Given the description of an element on the screen output the (x, y) to click on. 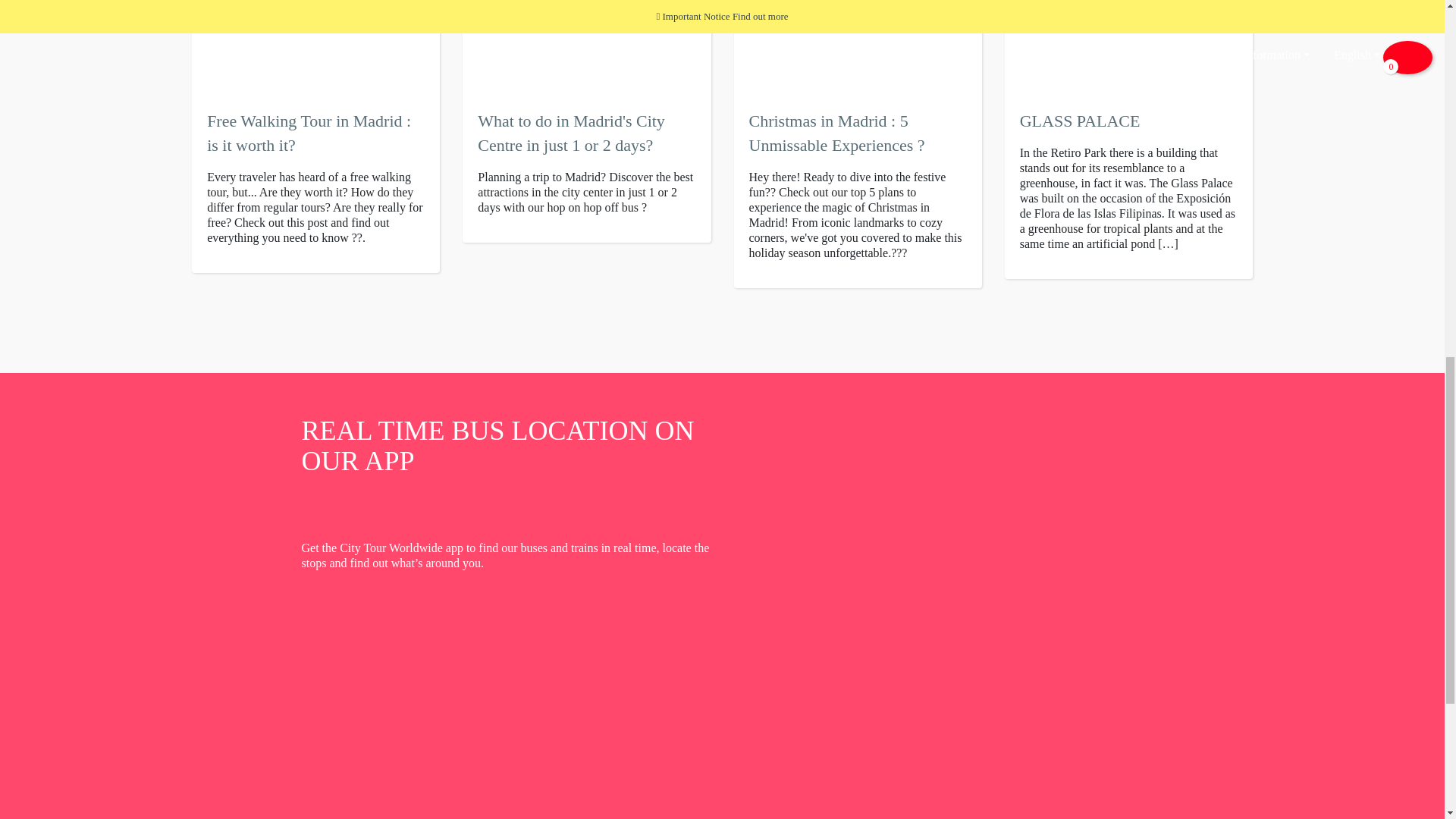
GLASS PALACE (1128, 120)
Free Walking Tour in Madrid : is it worth it? (315, 133)
Christmas in Madrid : 5 Unmissable Experiences ? (857, 133)
What to do in Madrid's City Centre in just 1 or 2 days? (586, 133)
